Given the description of an element on the screen output the (x, y) to click on. 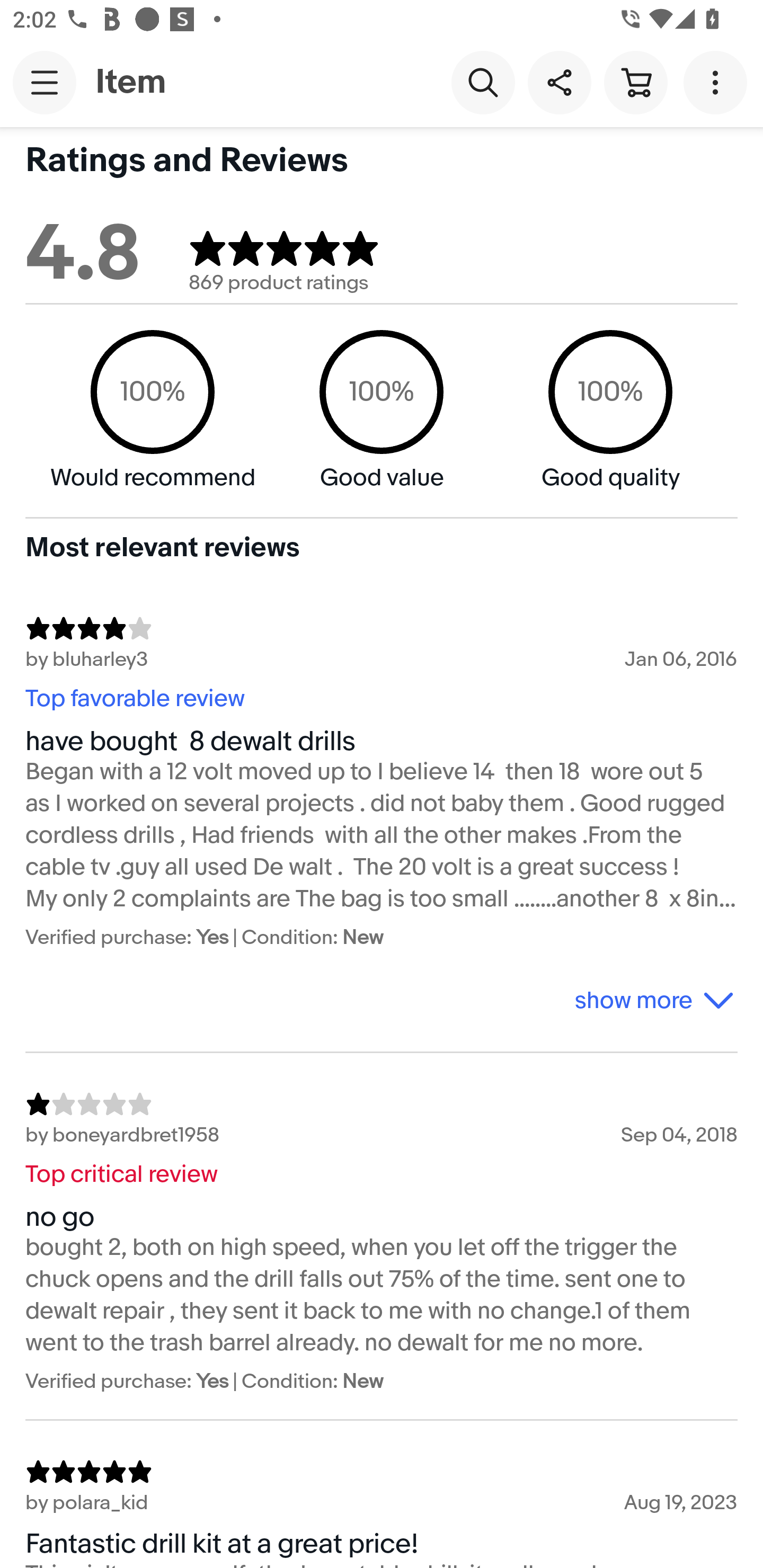
Main navigation, open (44, 82)
Search (482, 81)
Share this item (559, 81)
Cart button shopping cart (635, 81)
More options (718, 81)
